Given the description of an element on the screen output the (x, y) to click on. 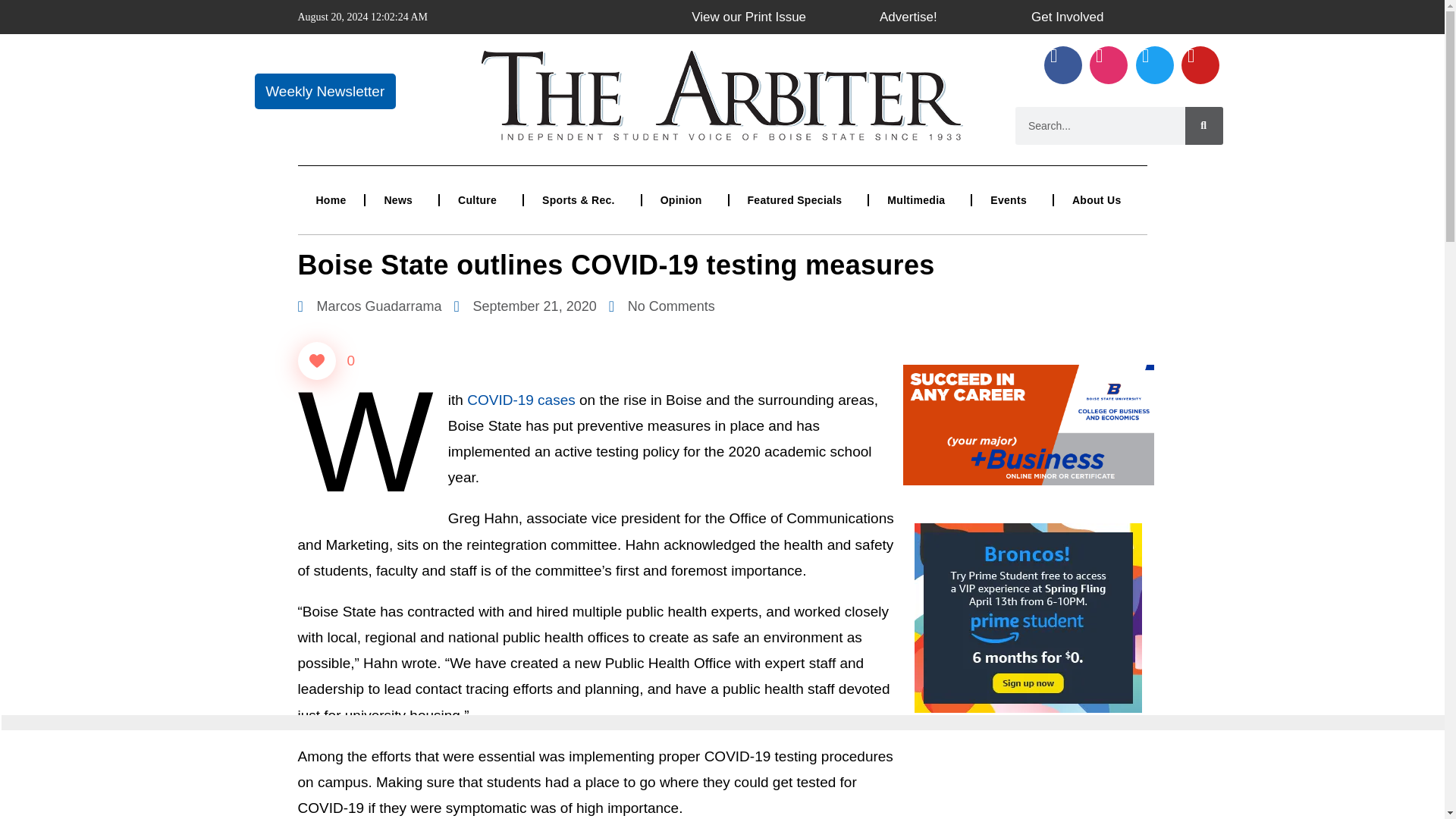
Opinion (685, 199)
Home (330, 199)
Culture (480, 199)
News (401, 199)
Featured Specials (798, 199)
